Given the description of an element on the screen output the (x, y) to click on. 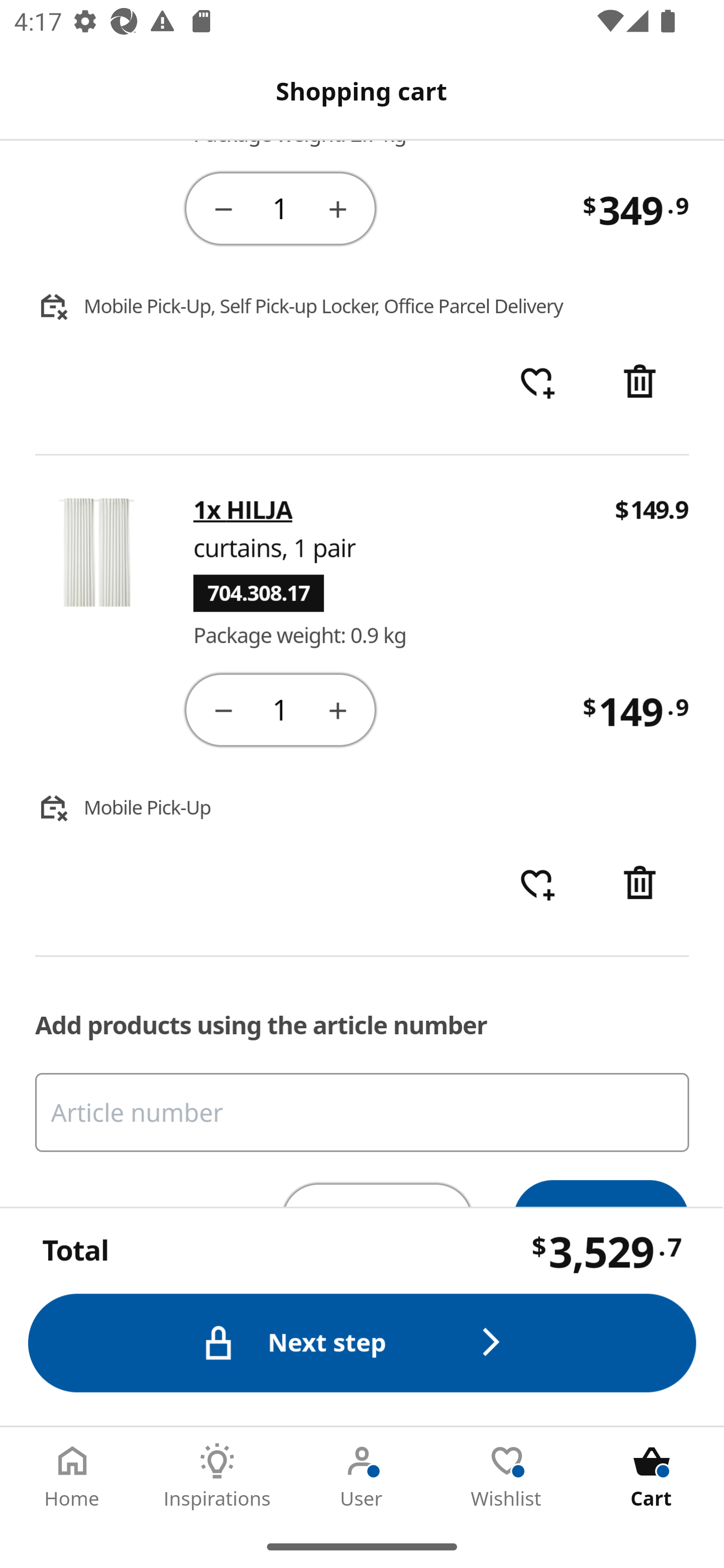
1 (281, 208)
 (223, 207)
 (338, 207)
  (536, 383)
 (641, 383)
1x  HILJA 1x  HILJA (243, 510)
1 (281, 709)
 (223, 709)
 (338, 709)
  (536, 885)
 (641, 885)
Home
Tab 1 of 5 (72, 1476)
Inspirations
Tab 2 of 5 (216, 1476)
User
Tab 3 of 5 (361, 1476)
Wishlist
Tab 4 of 5 (506, 1476)
Cart
Tab 5 of 5 (651, 1476)
